Given the description of an element on the screen output the (x, y) to click on. 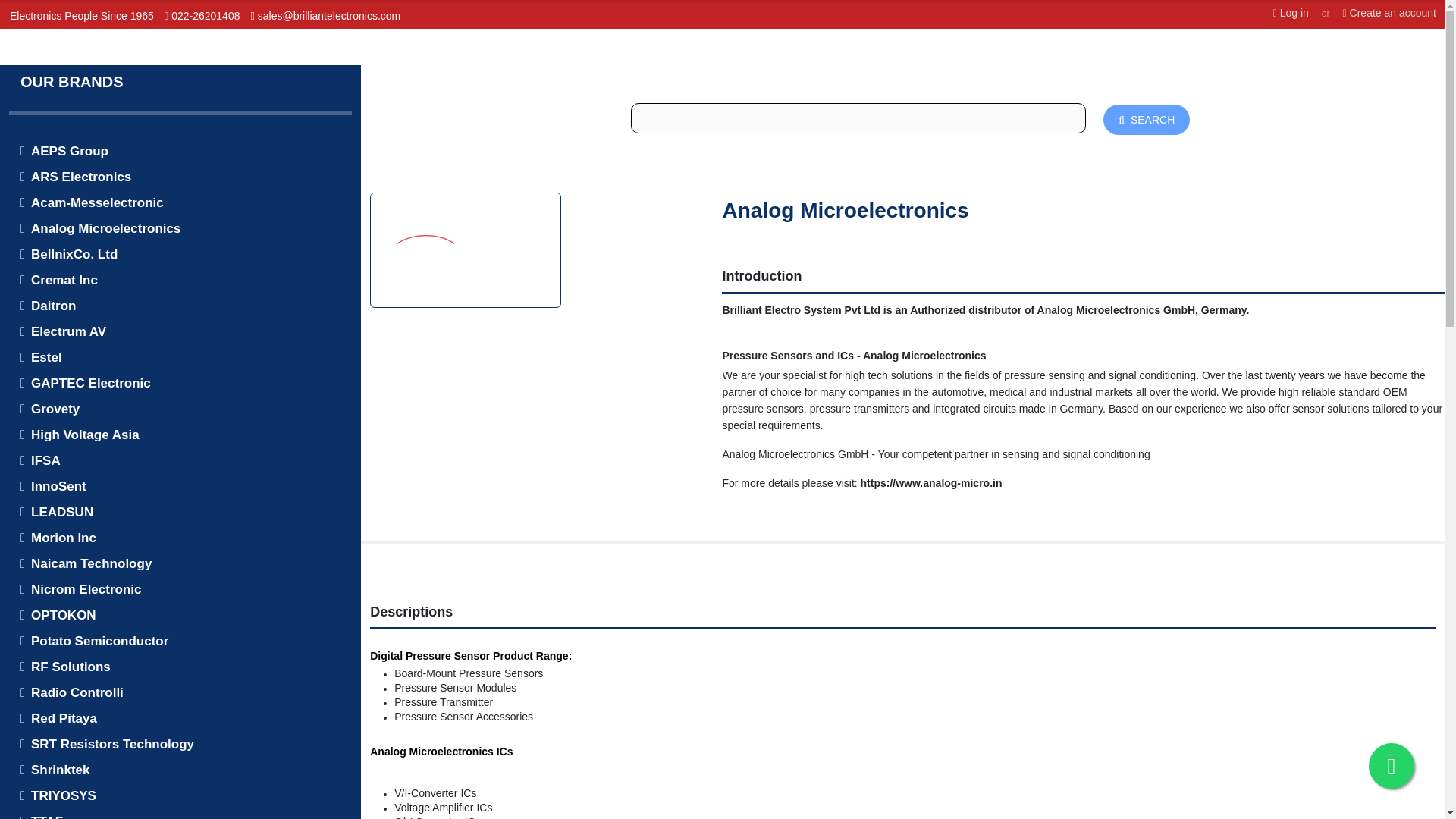
 Create an account (1389, 13)
 Log in (1291, 13)
